Given the description of an element on the screen output the (x, y) to click on. 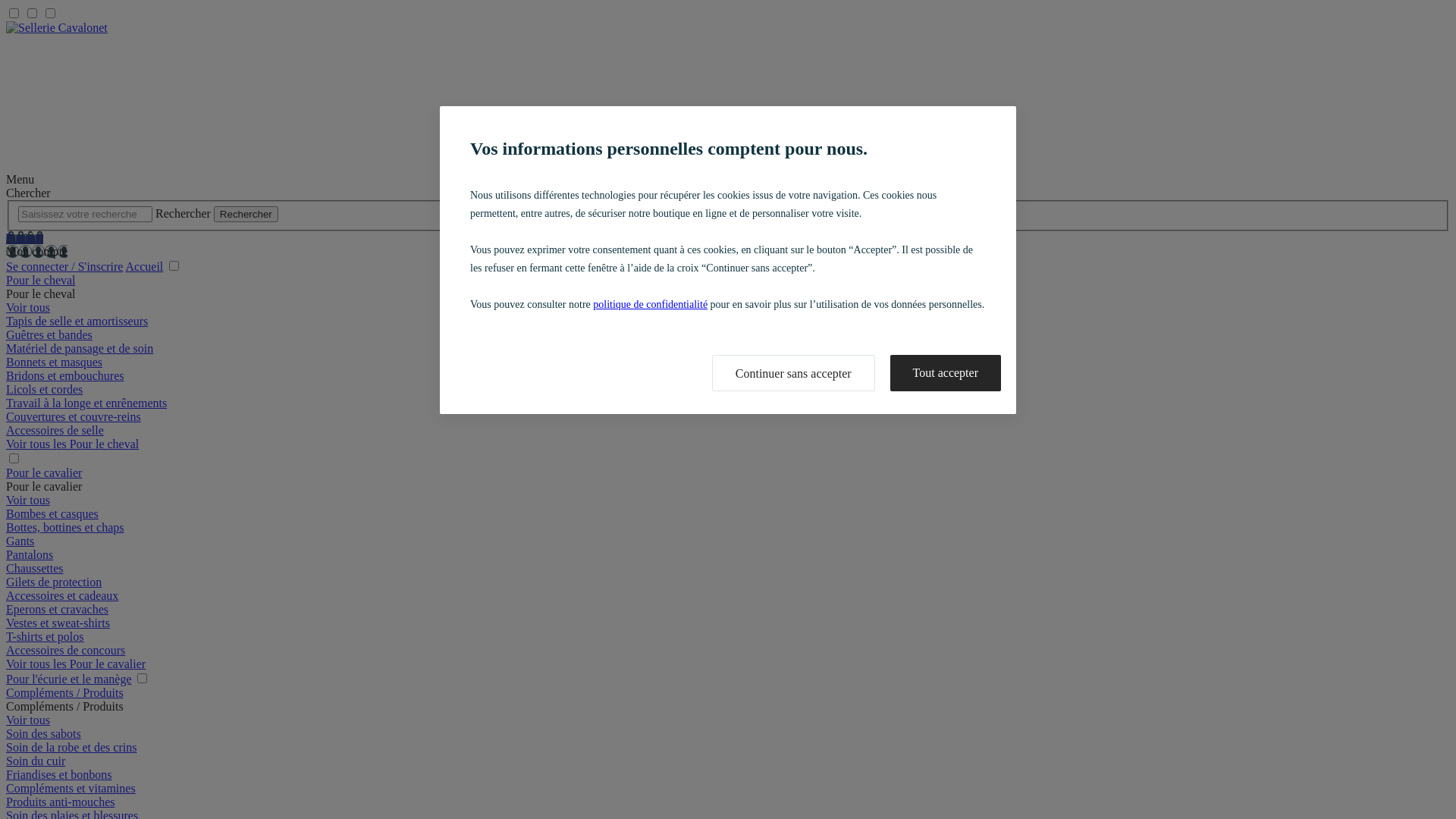
Accessoires et cadeaux Element type: text (62, 595)
Pour le cavalier Element type: text (43, 472)
Voir tous les Pour le cheval Element type: text (72, 443)
Eperons et cravaches Element type: text (57, 608)
Gants Element type: text (20, 540)
Se connecter / S'inscrire Element type: text (64, 266)
Accueil Element type: text (144, 266)
Bonnets et masques Element type: text (54, 361)
Couvertures et couvre-reins Element type: text (73, 416)
Rechercher Element type: text (245, 214)
Accessoires de concours Element type: text (65, 649)
Pour le cheval Element type: text (40, 279)
T-shirts et polos Element type: text (45, 636)
Bridons et embouchures Element type: text (65, 375)
Tout accepter Element type: text (945, 372)
Sellerie Cavalonet Element type: hover (727, 96)
Voir tous Element type: text (28, 719)
Soin du cuir Element type: text (35, 760)
Gilets de protection Element type: text (53, 581)
Licols et cordes Element type: text (44, 388)
Bombes et casques Element type: text (52, 513)
Produits anti-mouches Element type: text (60, 801)
Bottes, bottines et chaps Element type: text (65, 526)
Chaussettes Element type: text (34, 567)
Friandises et bonbons Element type: text (59, 774)
Soin des sabots Element type: text (43, 733)
Panier0 Element type: text (24, 237)
Voir tous Element type: text (28, 499)
Accessoires de selle Element type: text (54, 429)
Voir tous Element type: text (28, 307)
Pantalons Element type: text (29, 554)
Continuer sans accepter Element type: text (793, 372)
Voir tous les Pour le cavalier Element type: text (75, 663)
Tapis de selle et amortisseurs Element type: text (76, 320)
Soin de la robe et des crins Element type: text (71, 746)
Vestes et sweat-shirts Element type: text (57, 622)
